Given the description of an element on the screen output the (x, y) to click on. 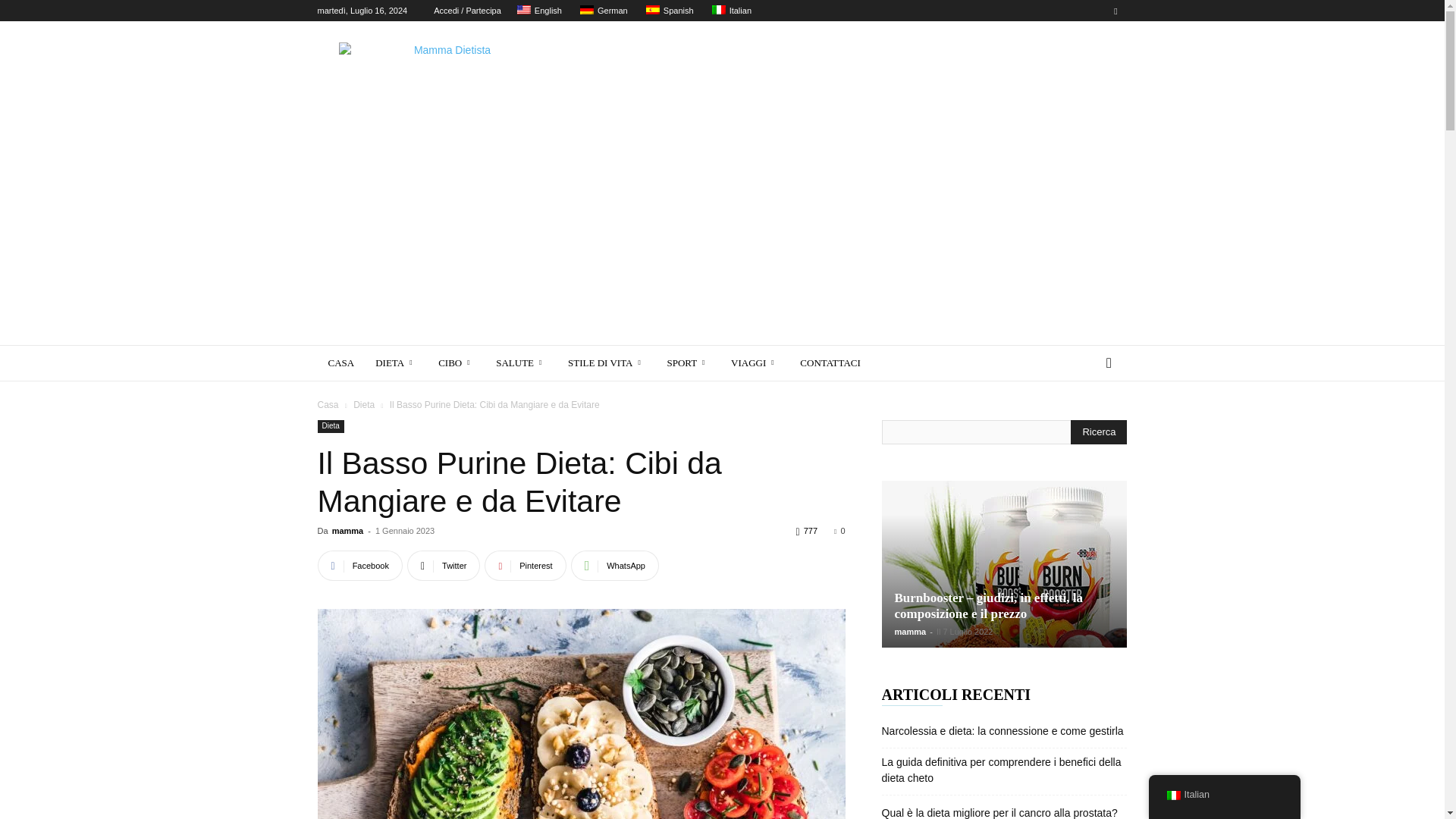
Italian (729, 10)
DIETA (396, 362)
Ricerca (1098, 432)
German (601, 10)
Spanish (668, 10)
Spanish (652, 9)
English (537, 10)
German (586, 9)
Italian (718, 9)
CASA (341, 362)
Facebook (1114, 10)
English (523, 9)
Mamma Dietista (445, 76)
